Given the description of an element on the screen output the (x, y) to click on. 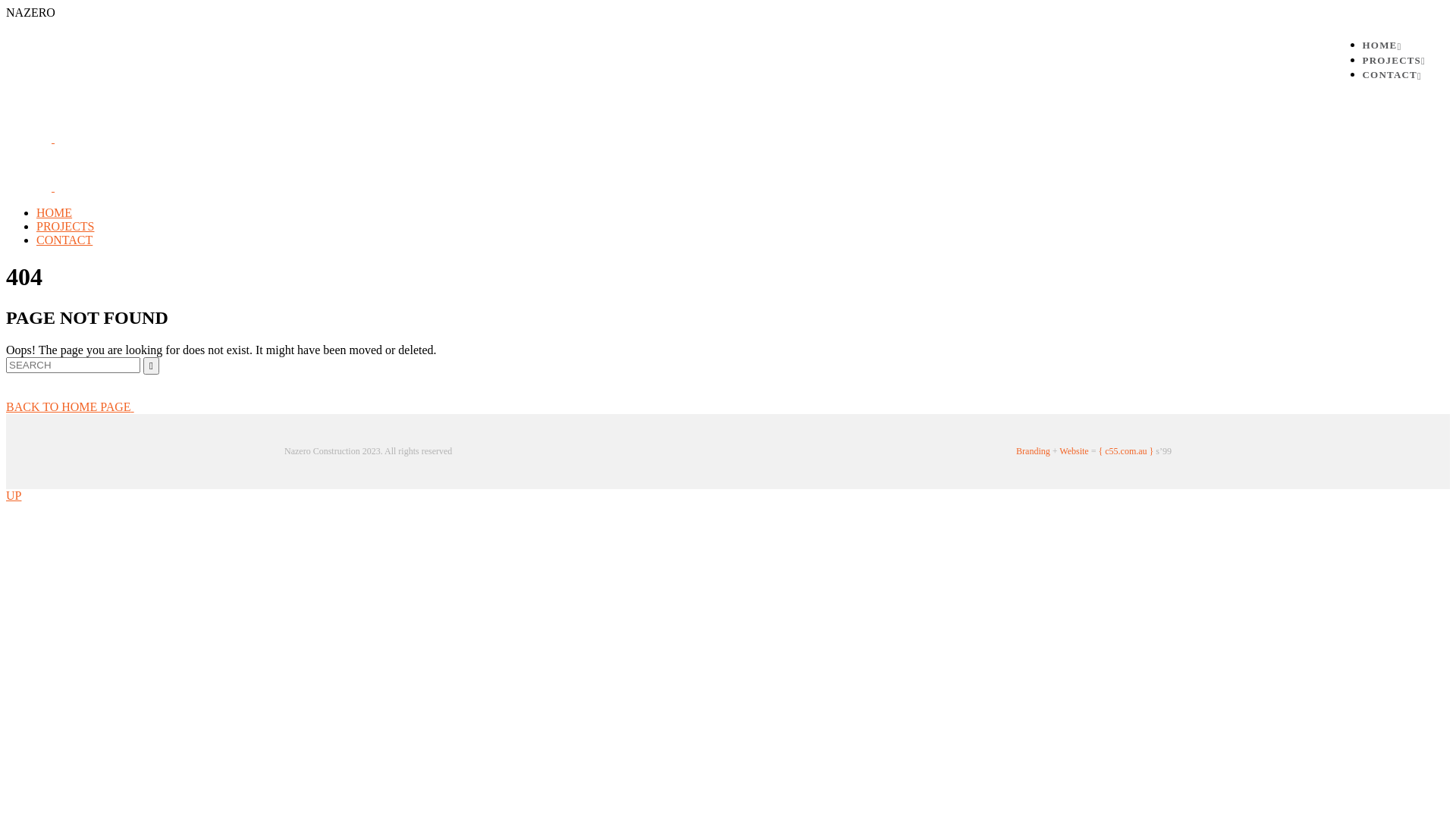
Nazero Construction Element type: hover (53, 186)
CONTACT Element type: text (1391, 74)
Nazero Construction Element type: hover (53, 137)
BACK TO HOME PAGE Element type: text (148, 406)
HOME Element type: text (54, 212)
Website Element type: text (1073, 450)
PROJECTS Element type: text (65, 225)
CONTACT Element type: text (64, 239)
PROJECTS Element type: text (1393, 59)
Branding Element type: text (1033, 450)
UP Element type: text (13, 495)
HOME Element type: text (1382, 44)
